Given the description of an element on the screen output the (x, y) to click on. 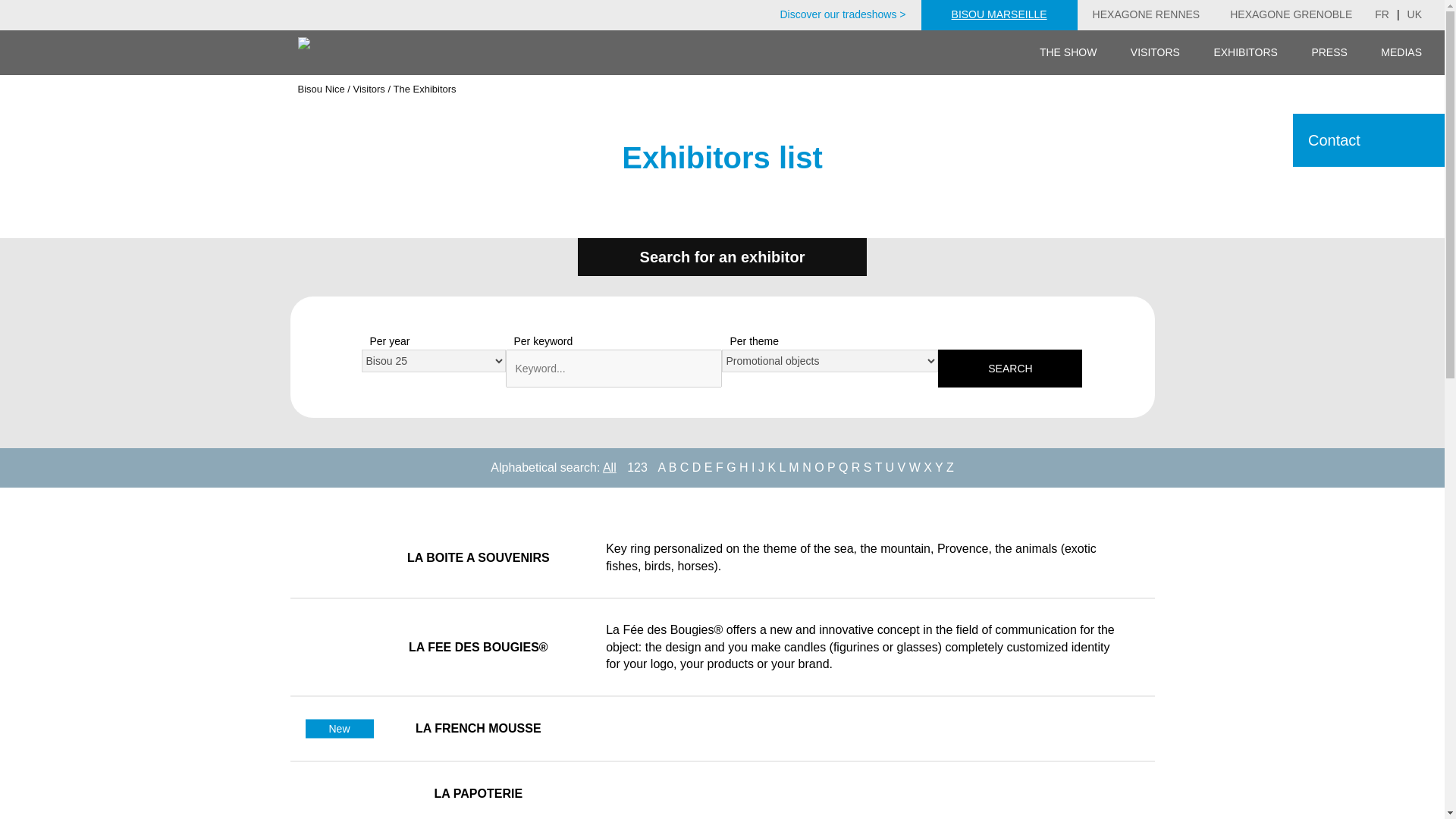
Bisou Nice (320, 89)
VISITORS (1155, 53)
THE SHOW (1068, 53)
UK (1414, 15)
123 (637, 467)
Visitors (368, 89)
EXHIBITORS (1245, 53)
HEXAGONE GRENOBLE (1290, 15)
HEXAGONE RENNES (1146, 15)
PRESS (1328, 53)
